Given the description of an element on the screen output the (x, y) to click on. 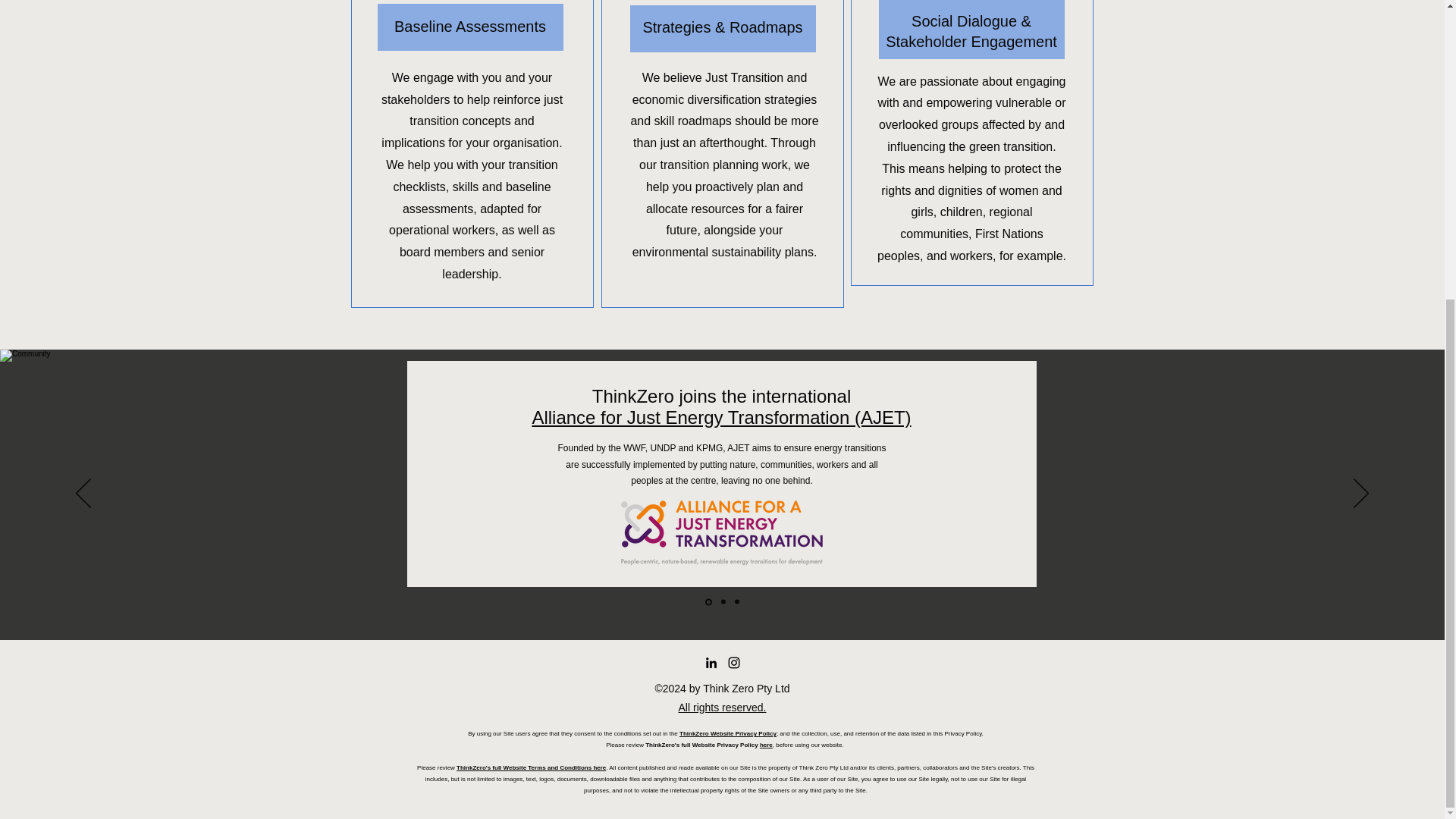
ThinkZero Website Privacy Policy (727, 733)
ThinkZero's full Website Terms and Conditions here (531, 767)
All rights reserved. (722, 707)
here (766, 745)
